Given the description of an element on the screen output the (x, y) to click on. 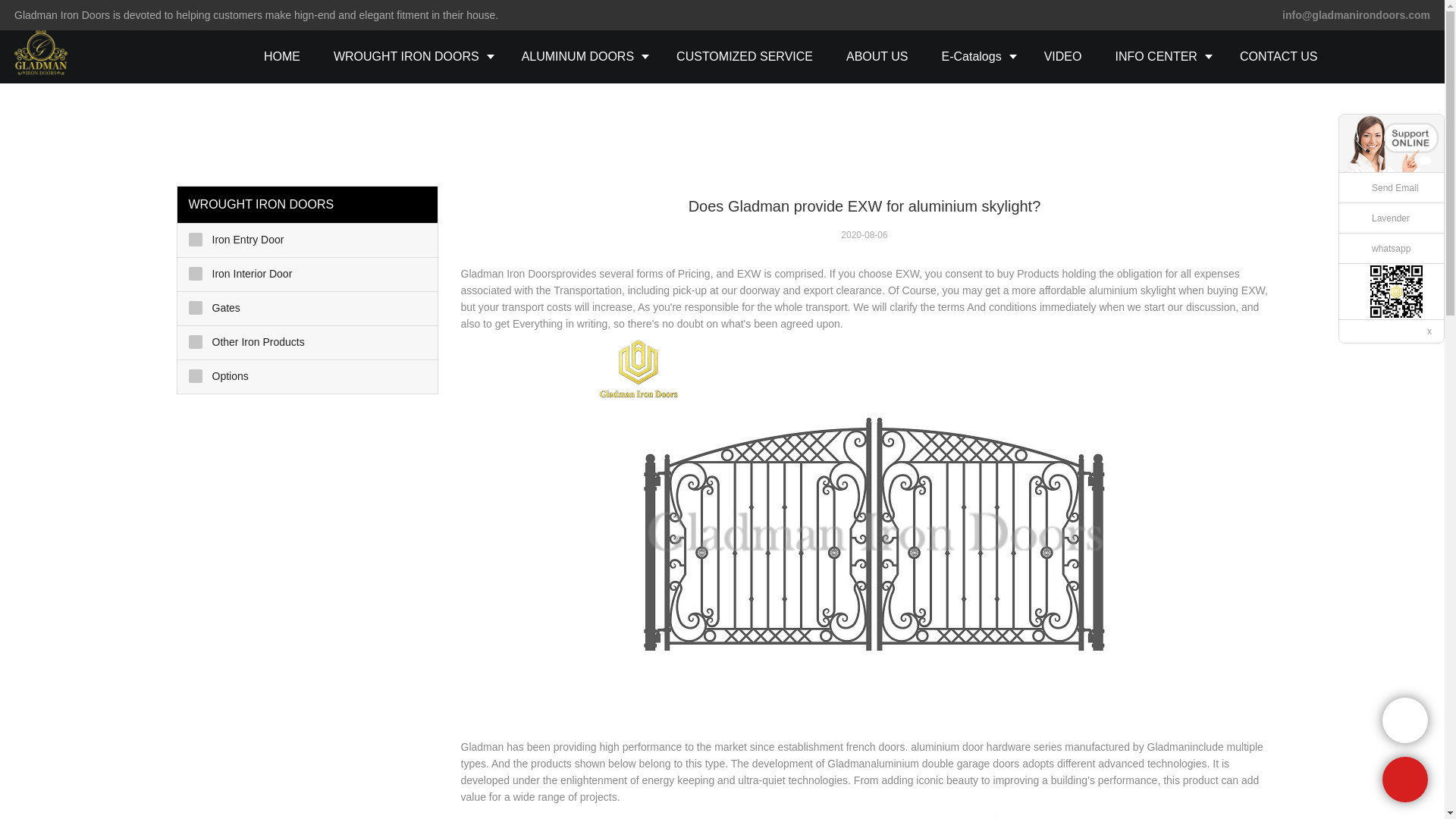
ALUMINUM DOORS (582, 56)
WROUGHT IRON DOORS (411, 56)
HOME (282, 56)
